Given the description of an element on the screen output the (x, y) to click on. 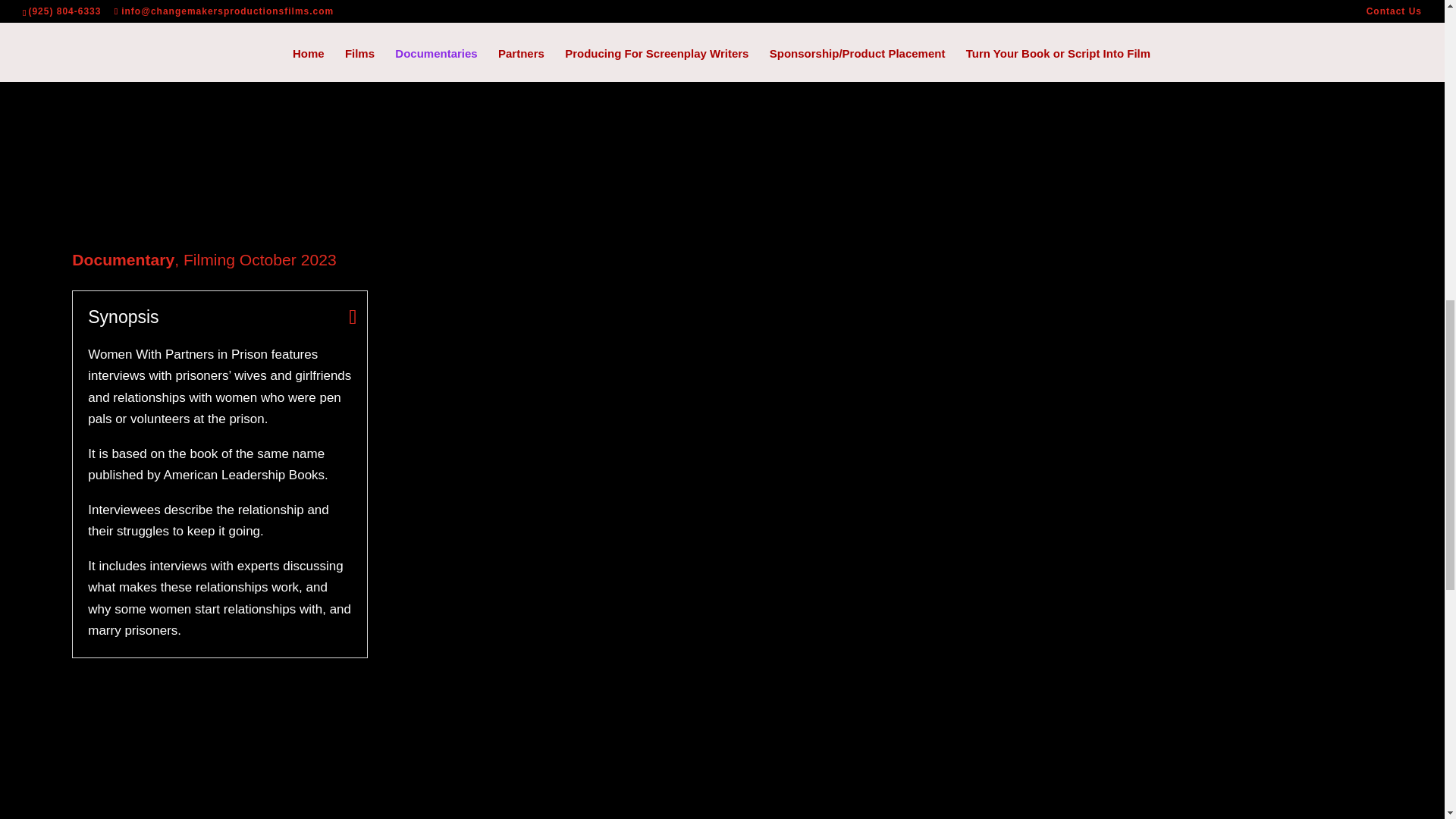
Women with Partners Film Poster (219, 115)
